Given the description of an element on the screen output the (x, y) to click on. 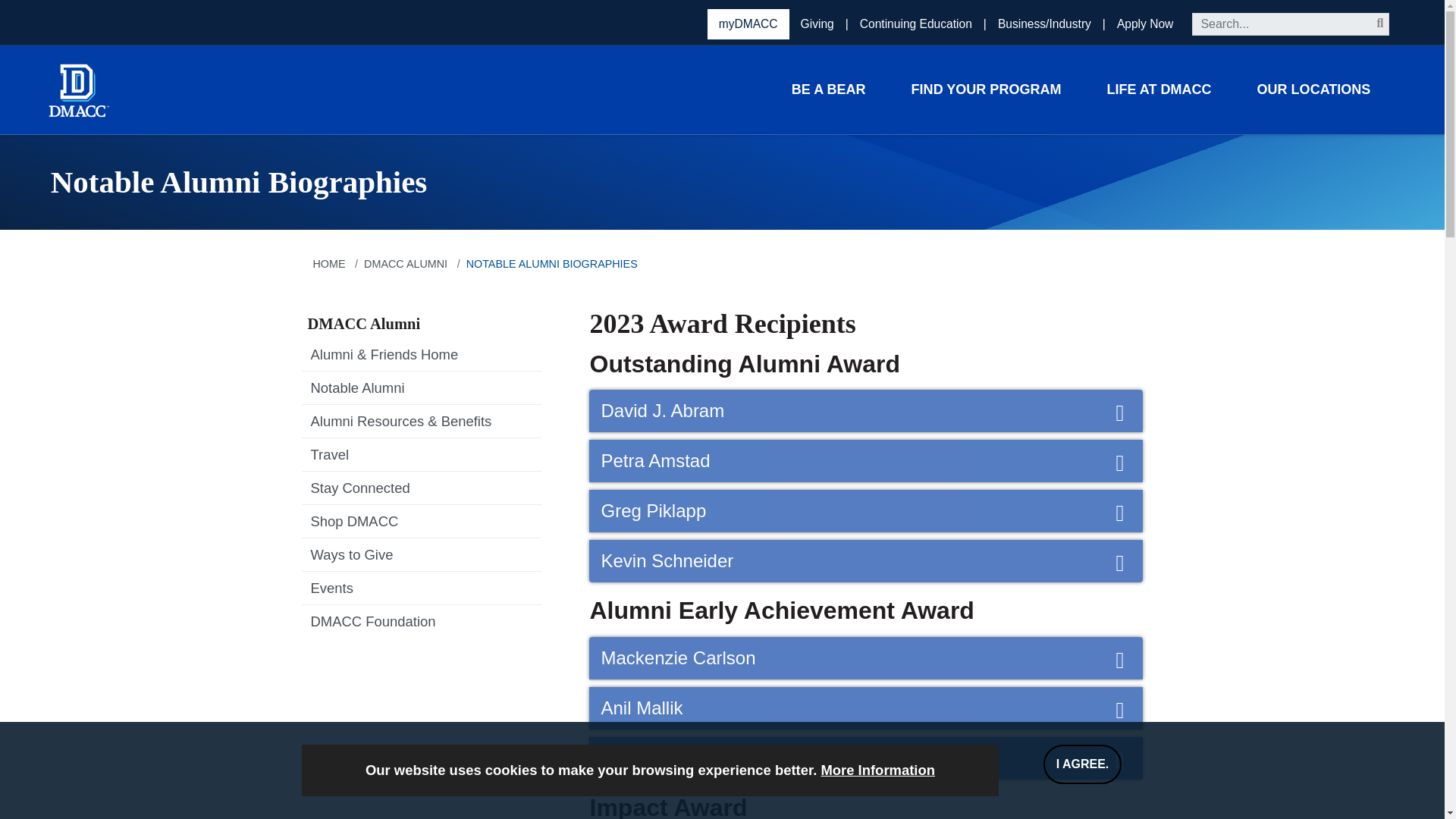
Apply Now (1145, 24)
q (1290, 24)
FIND YOUR PROGRAM (986, 89)
Giving (818, 24)
myDMACC (748, 24)
BE A BEAR (828, 89)
LIFE AT DMACC (1158, 89)
Continuing Education (917, 24)
